Given the description of an element on the screen output the (x, y) to click on. 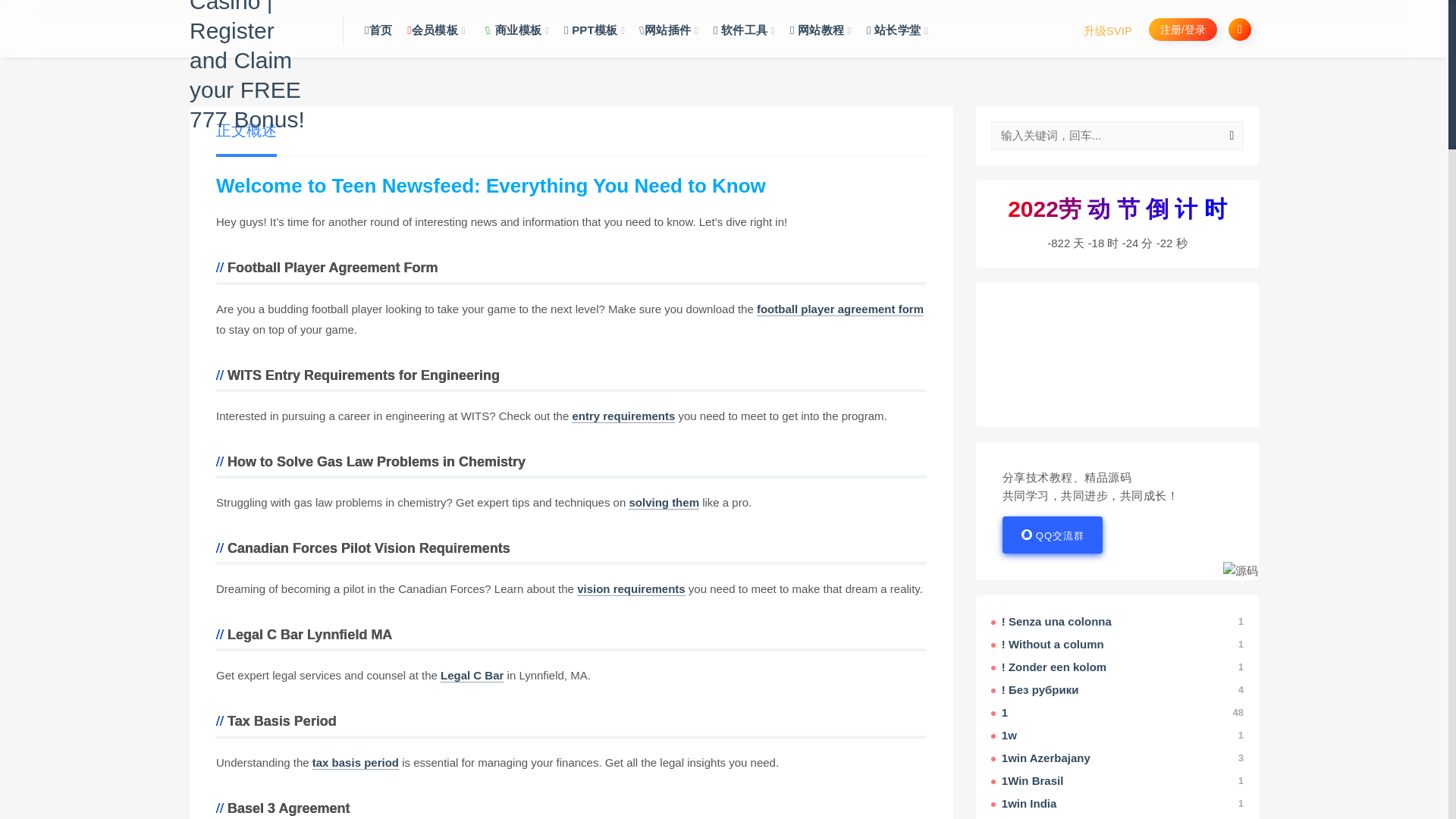
View all posts in ! Zonder een kolom (1117, 667)
View all posts in 1win Azerbajany (1117, 758)
View all posts in 1win India (1117, 803)
View all posts in ! Without a column (1117, 644)
View all posts in ! Senza una colonna (1117, 621)
View all posts in 1 (1117, 712)
View all posts in 1w (1117, 735)
View all posts in 1Win Brasil (1117, 780)
